Given the description of an element on the screen output the (x, y) to click on. 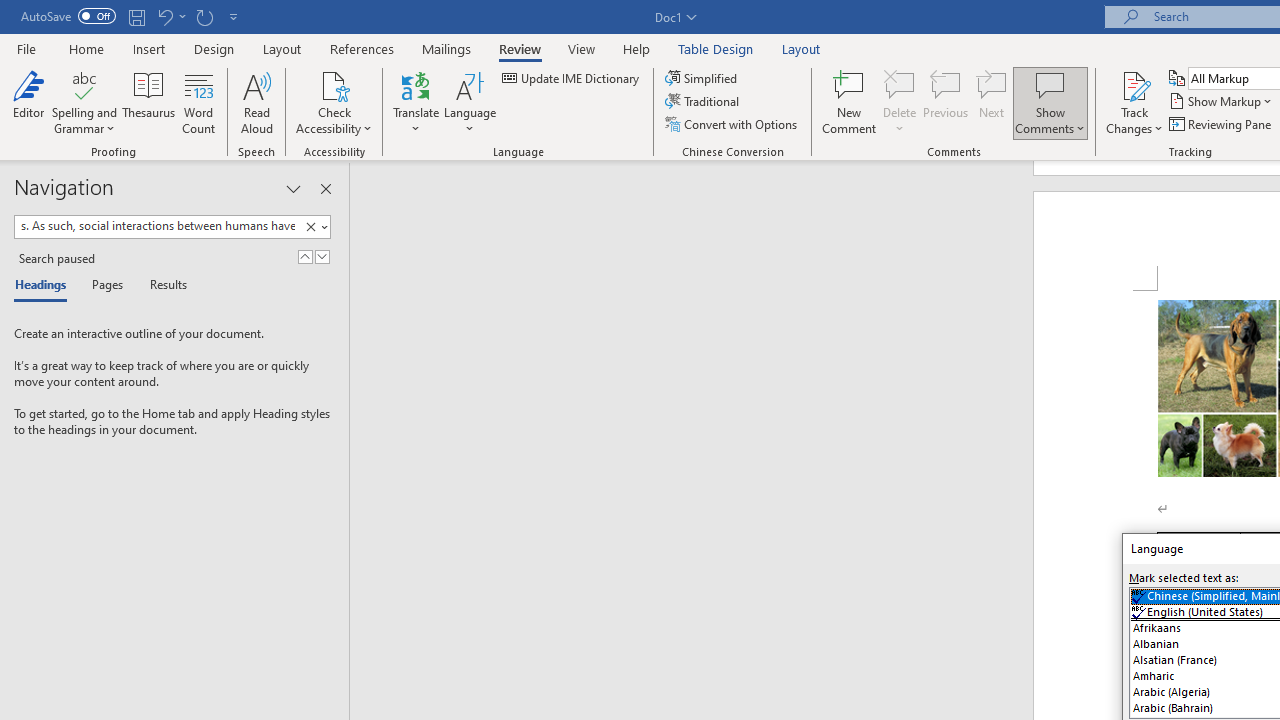
Repeat Style (204, 15)
Read Aloud (256, 102)
Spelling and Grammar (84, 84)
Show Comments (1050, 102)
Translate (415, 102)
Track Changes (1134, 102)
Thesaurus... (148, 102)
